Given the description of an element on the screen output the (x, y) to click on. 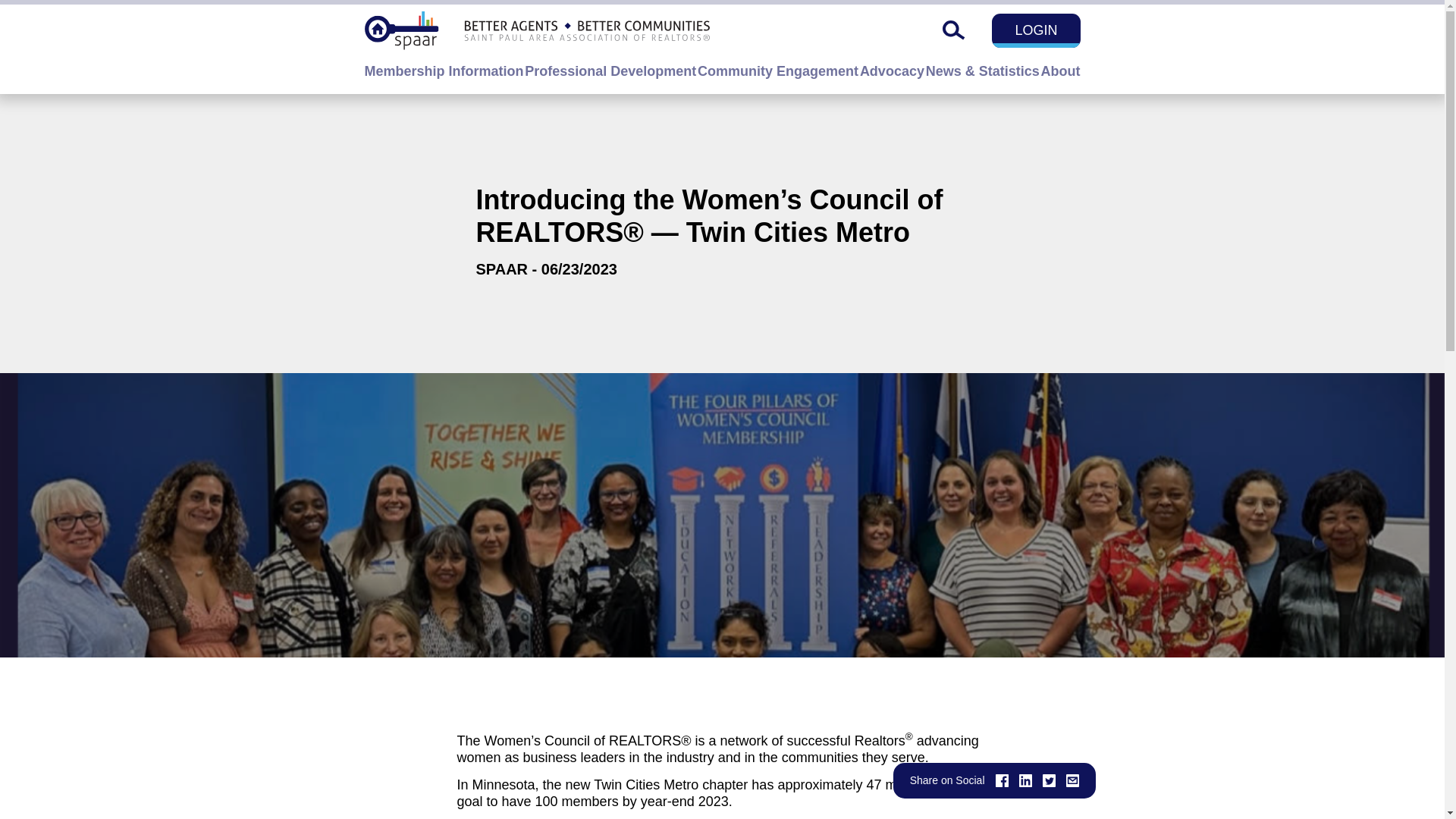
LOGIN (1035, 30)
Professional Development (609, 78)
Search (954, 30)
Advocacy (892, 78)
Community Engagement (778, 78)
Membership Information (443, 78)
